Given the description of an element on the screen output the (x, y) to click on. 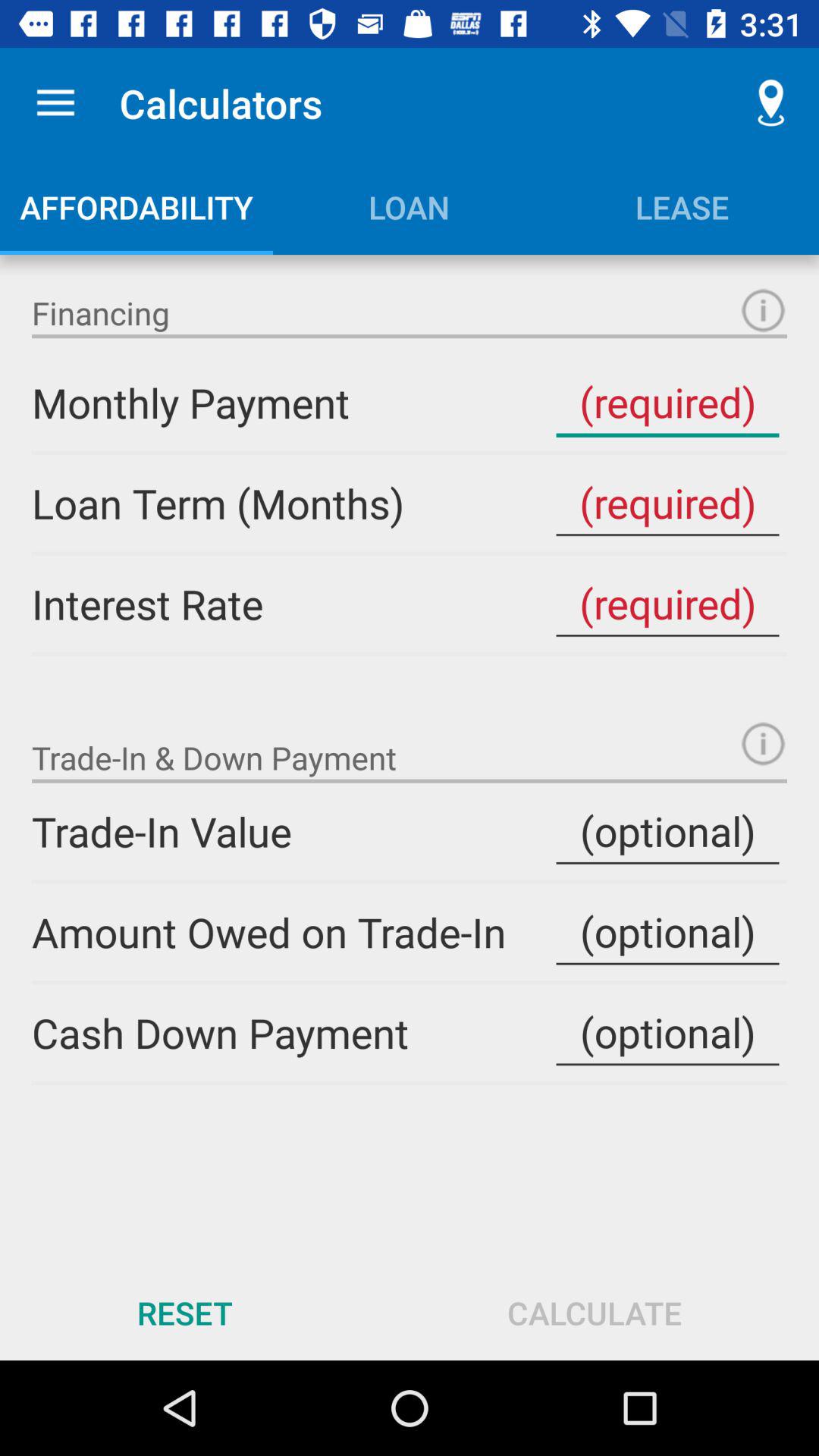
turn on the icon to the right of the financing icon (763, 310)
